Given the description of an element on the screen output the (x, y) to click on. 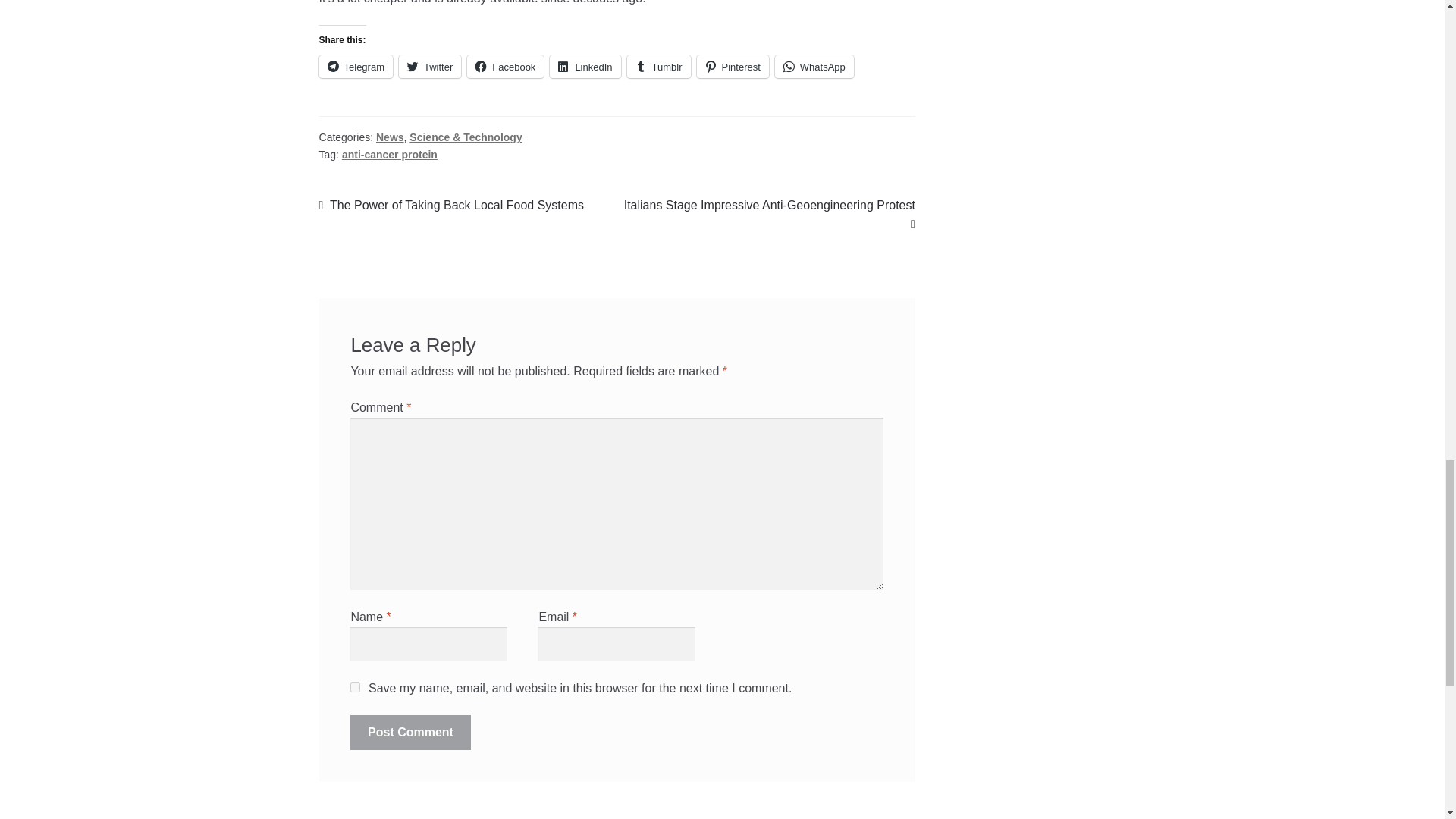
Post Comment (410, 732)
Click to share on WhatsApp (813, 66)
Click to share on Tumblr (658, 66)
Click to share on LinkedIn (585, 66)
yes (354, 687)
Click to share on Pinterest (731, 66)
Click to share on Telegram (355, 66)
Click to share on Facebook (505, 66)
Click to share on Twitter (429, 66)
